Given the description of an element on the screen output the (x, y) to click on. 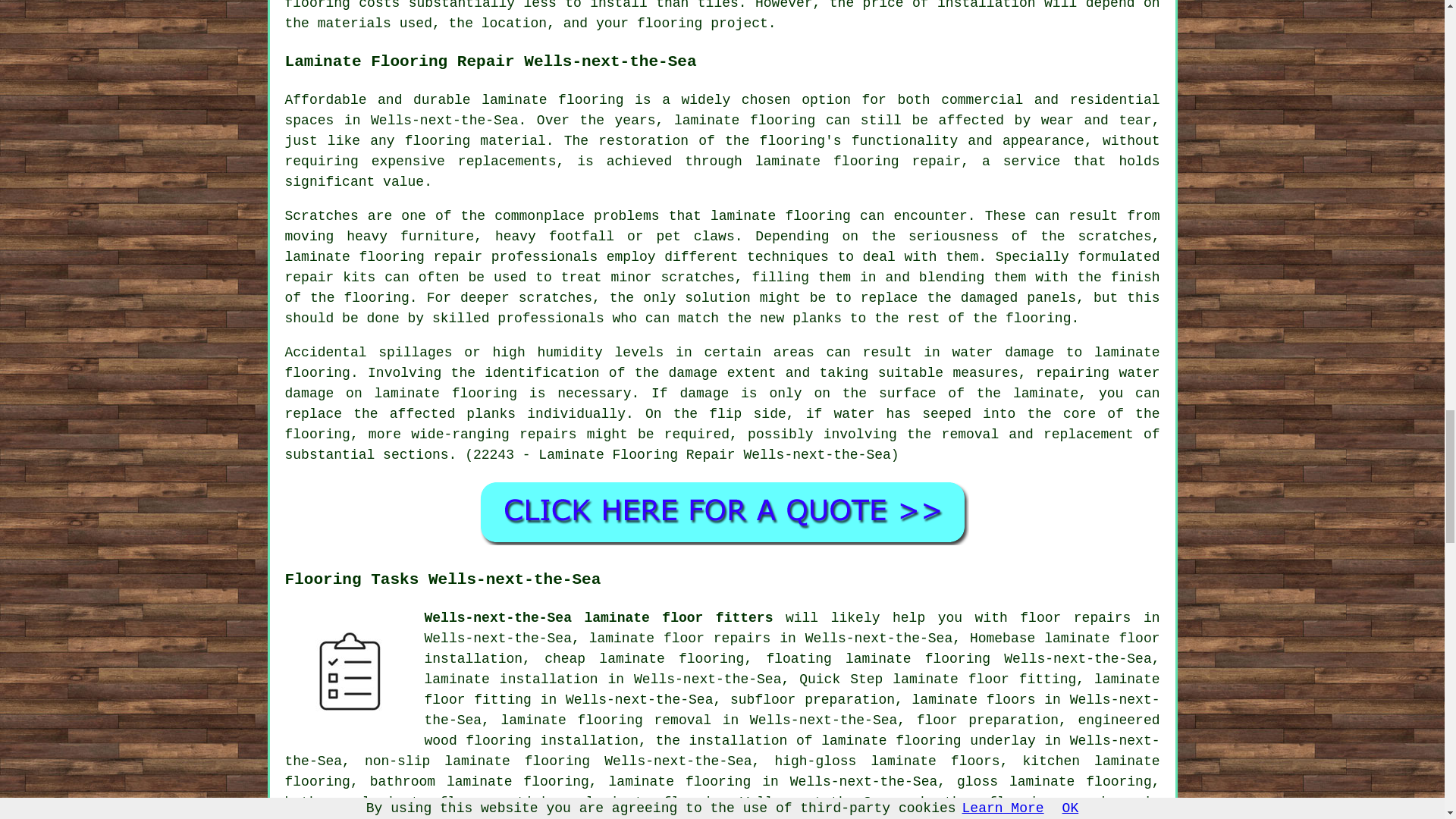
cheap laminate flooring (644, 658)
laminate flooring (722, 362)
